Given the description of an element on the screen output the (x, y) to click on. 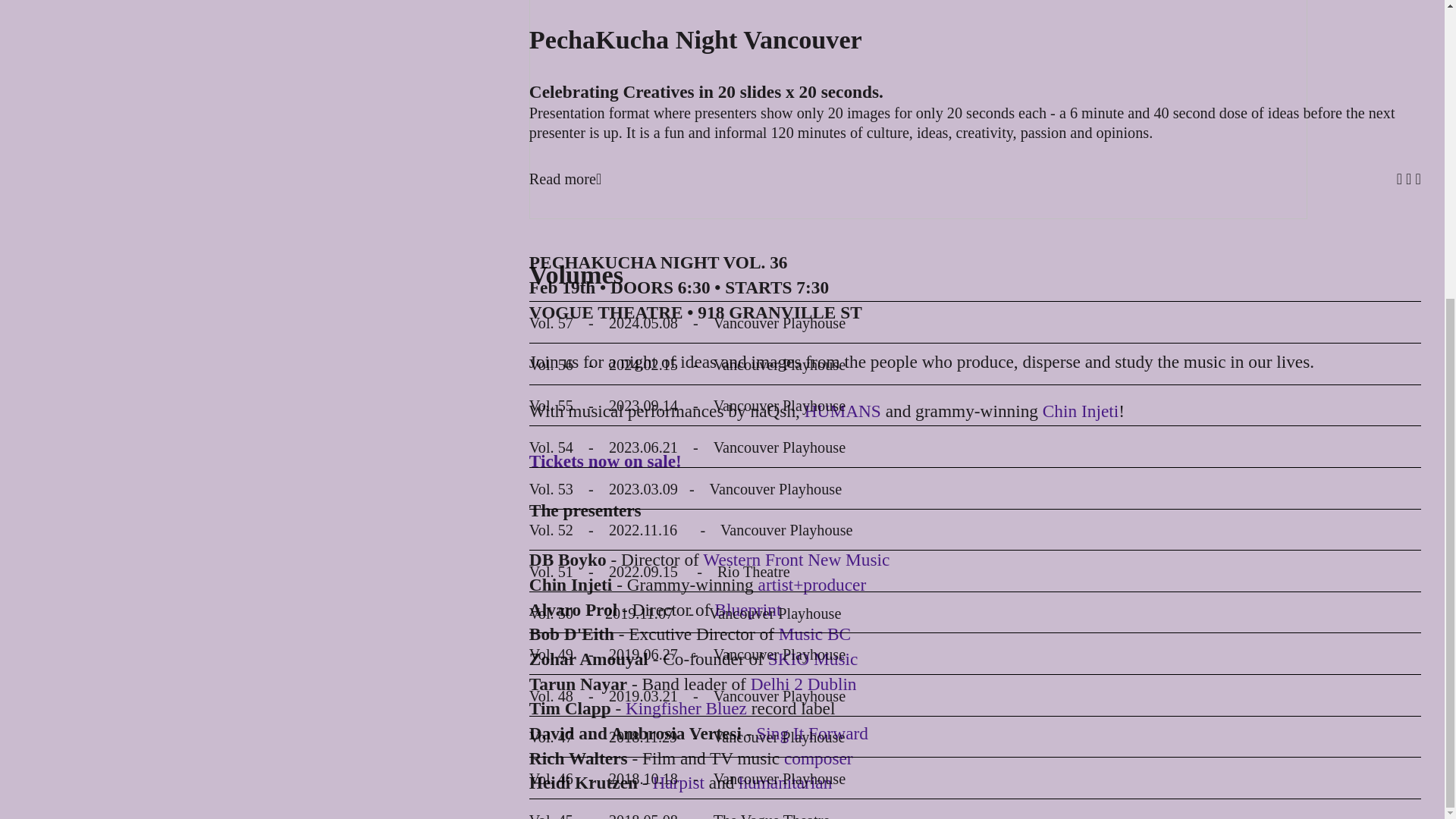
Vol. 50    -   2019.11.07    -    Vancouver Playhouse (685, 151)
Vol. 52    -    2022.11.16      -    Vancouver Playhouse (691, 67)
Vol. 37    -    2015.09.23    -    Vogue Theatre (665, 689)
Vol. 36    -    2015.02.19    -    Vogue Theatre (665, 730)
Vol. 45    -    2018.05.08    -    The Vogue Theatre (679, 358)
Vol. 39    -    2016.05.12    -    Granville Island Stage (689, 606)
Vol. 42    -    2017.06.08    -    Vancouver Playhouse (687, 482)
Vol. 48    -    2019.03.21    -    Vancouver Playhouse (687, 234)
Vol. 38    -    2015.10.16    -    Vogue Theatre (665, 648)
Vol. 40    -    2016.09.08    -    Granville Island Stage (689, 565)
Vol. 44    -    2018.02.18   -    Vancouver Playhouse (685, 399)
Vol. 49    -    2019.06.27    -    Vancouver Playhouse (687, 192)
Vol. 35    -    2014.11.27    -    Vogue Theatre (665, 772)
Vol. 47    -    2018.11.29    -    Vancouver Playhouse (687, 275)
Vol. 46    -    2018.10.18    -    Vancouver Playhouse (687, 316)
